Given the description of an element on the screen output the (x, y) to click on. 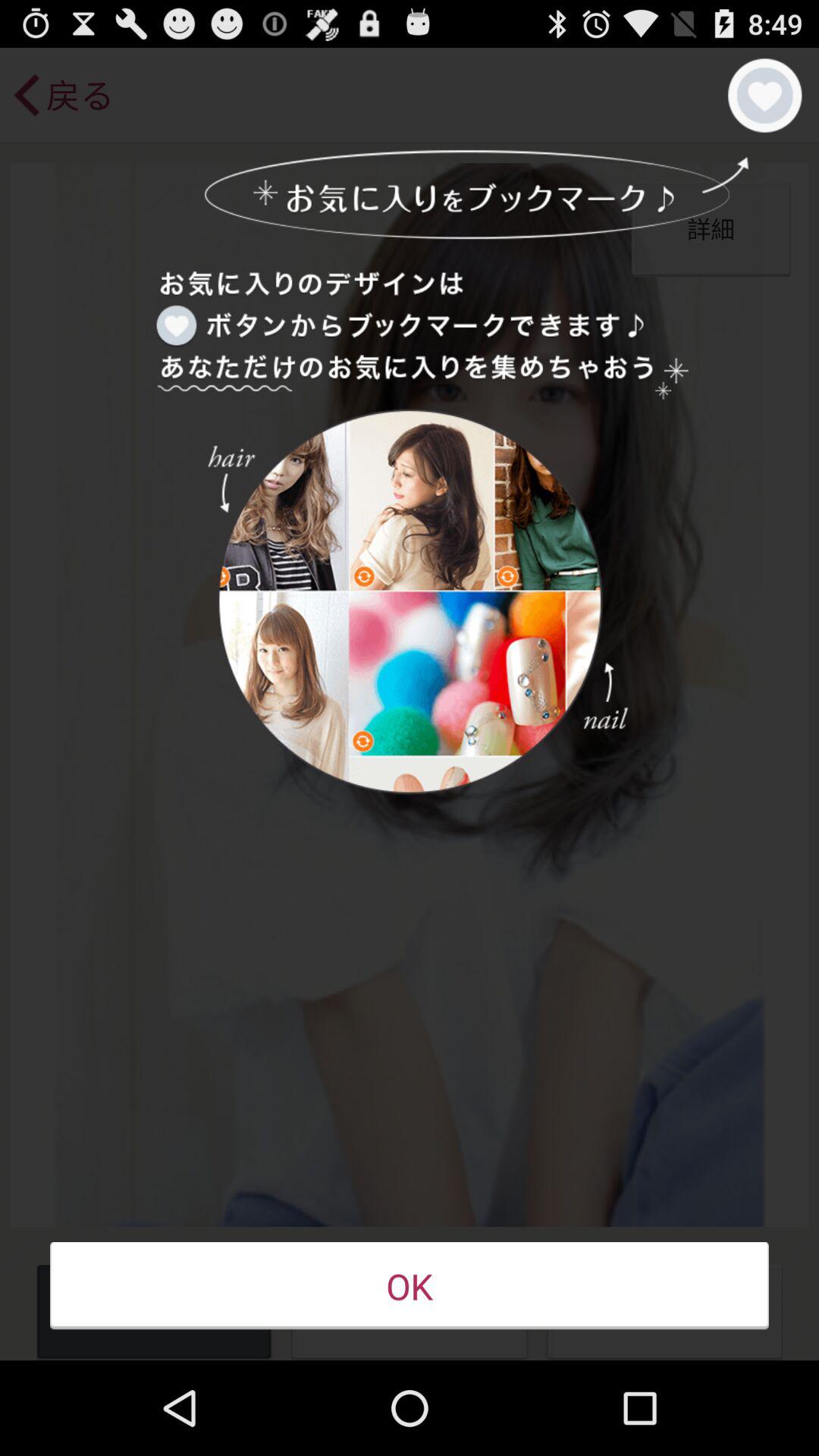
press the ok icon (409, 1286)
